Given the description of an element on the screen output the (x, y) to click on. 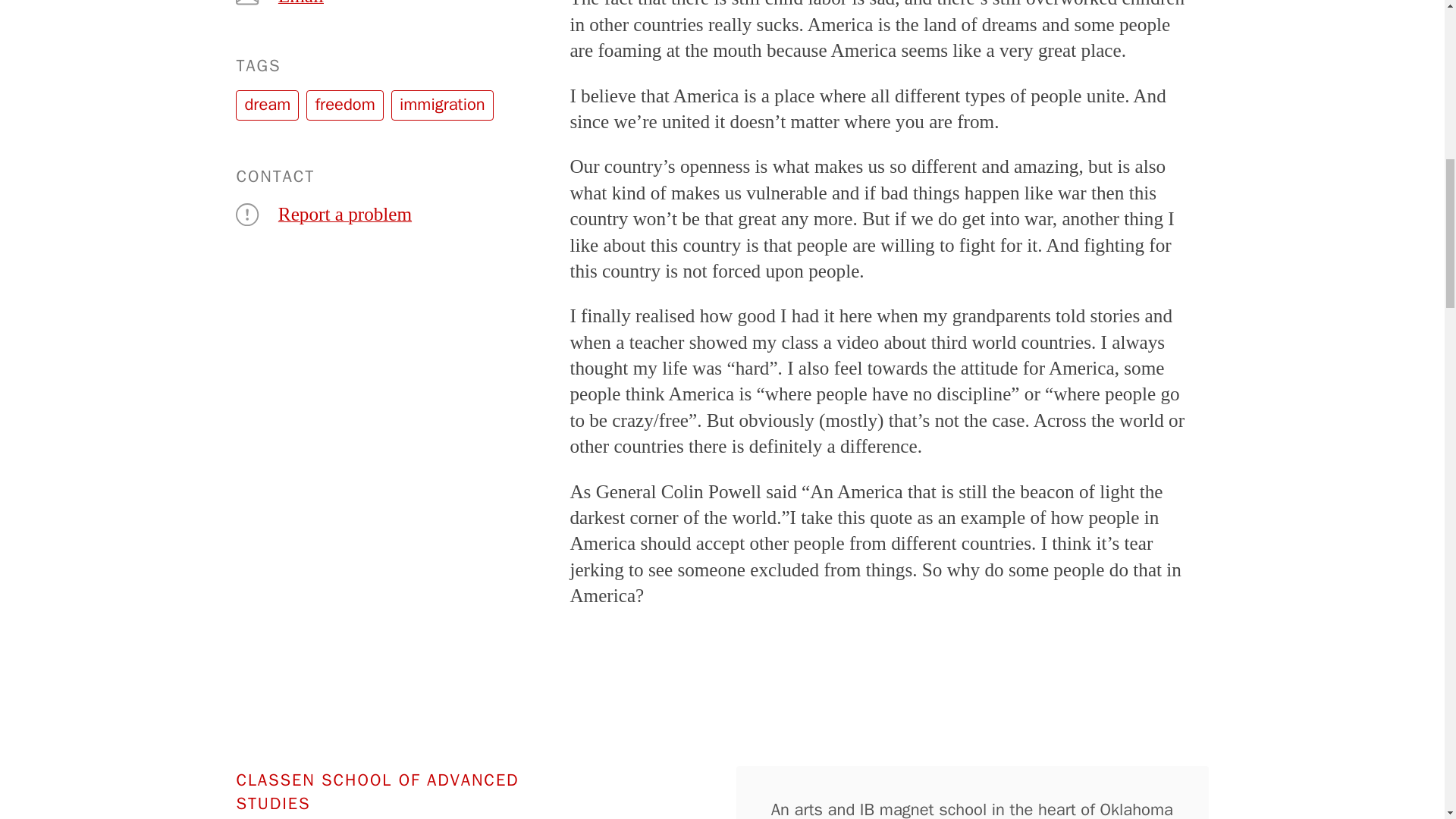
dream (266, 105)
Report a problem (345, 214)
freedom (343, 105)
Classen School of Advanced Studies (387, 789)
Email (300, 4)
immigration (442, 105)
